Given the description of an element on the screen output the (x, y) to click on. 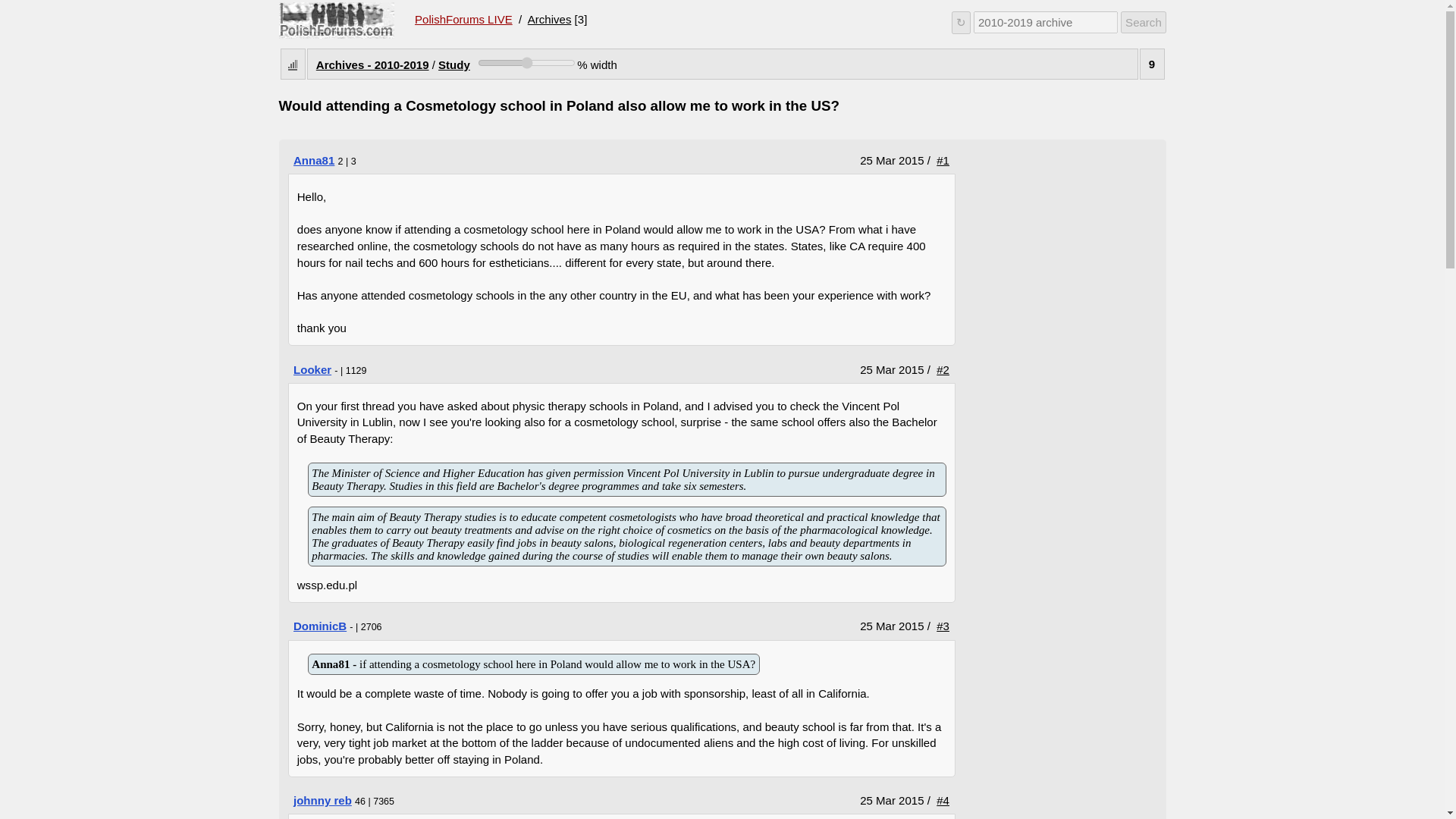
Archives - 2010-2019 (372, 64)
Archives (549, 19)
Anna81 (533, 664)
Looker (312, 369)
Study (454, 64)
Archives - 2010-2019 (314, 160)
DominicB (336, 20)
